Given the description of an element on the screen output the (x, y) to click on. 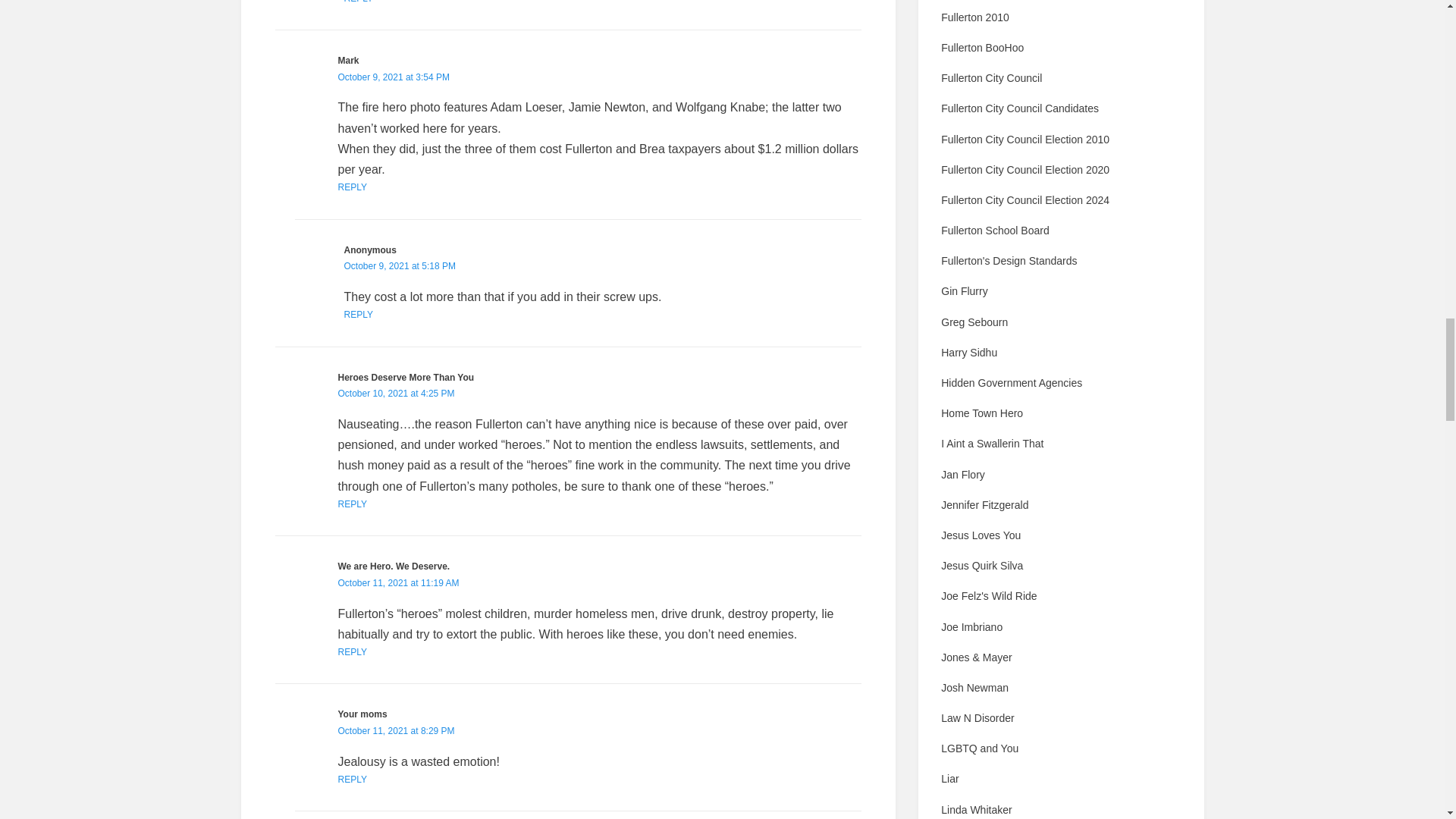
REPLY (351, 778)
October 10, 2021 at 4:25 PM (395, 393)
REPLY (351, 186)
REPLY (351, 503)
REPLY (357, 2)
October 11, 2021 at 11:19 AM (398, 583)
October 9, 2021 at 5:18 PM (399, 266)
October 11, 2021 at 8:29 PM (395, 730)
REPLY (357, 314)
REPLY (351, 652)
